Given the description of an element on the screen output the (x, y) to click on. 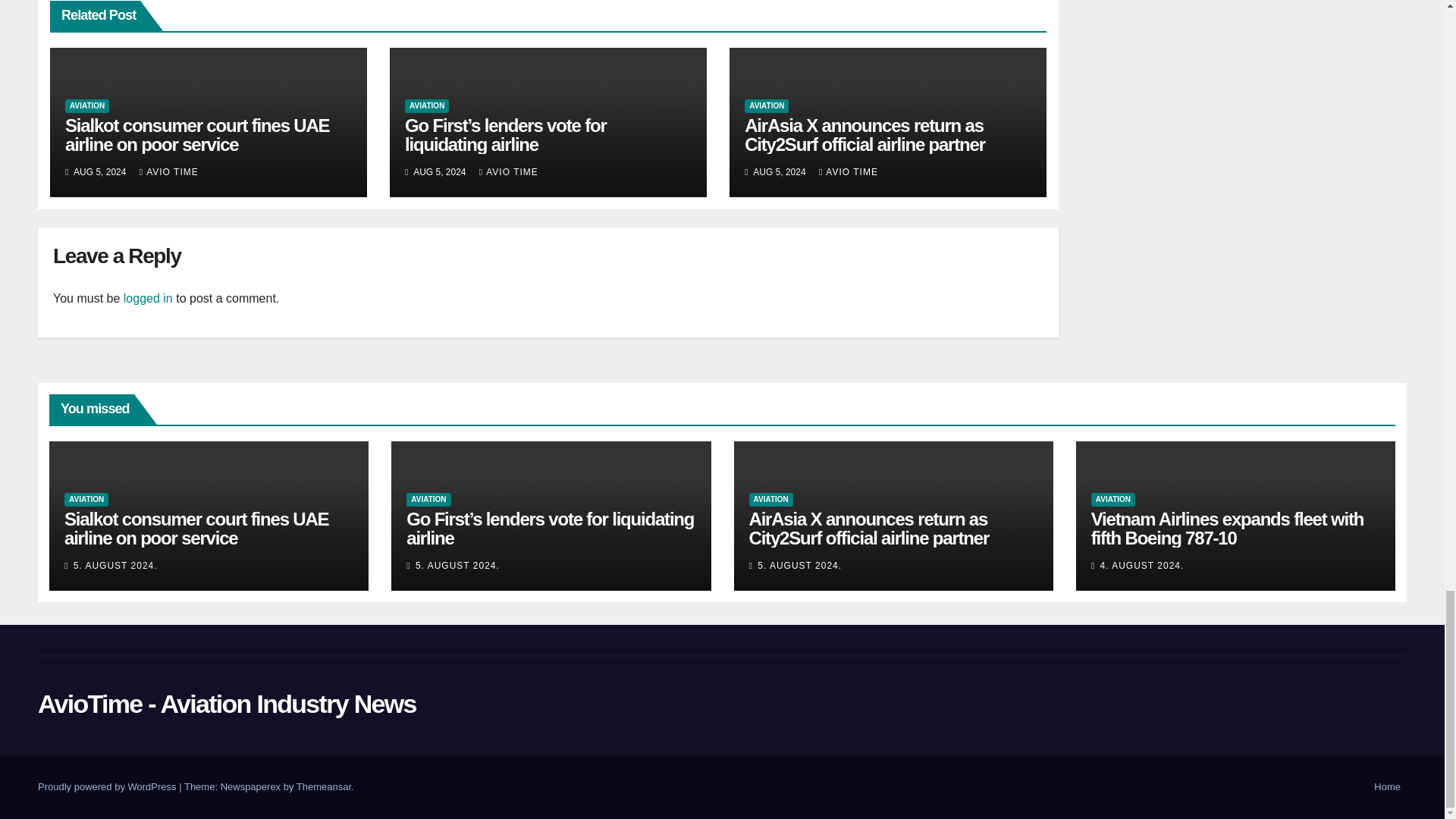
Home (1387, 786)
AVIATION (87, 106)
